Given the description of an element on the screen output the (x, y) to click on. 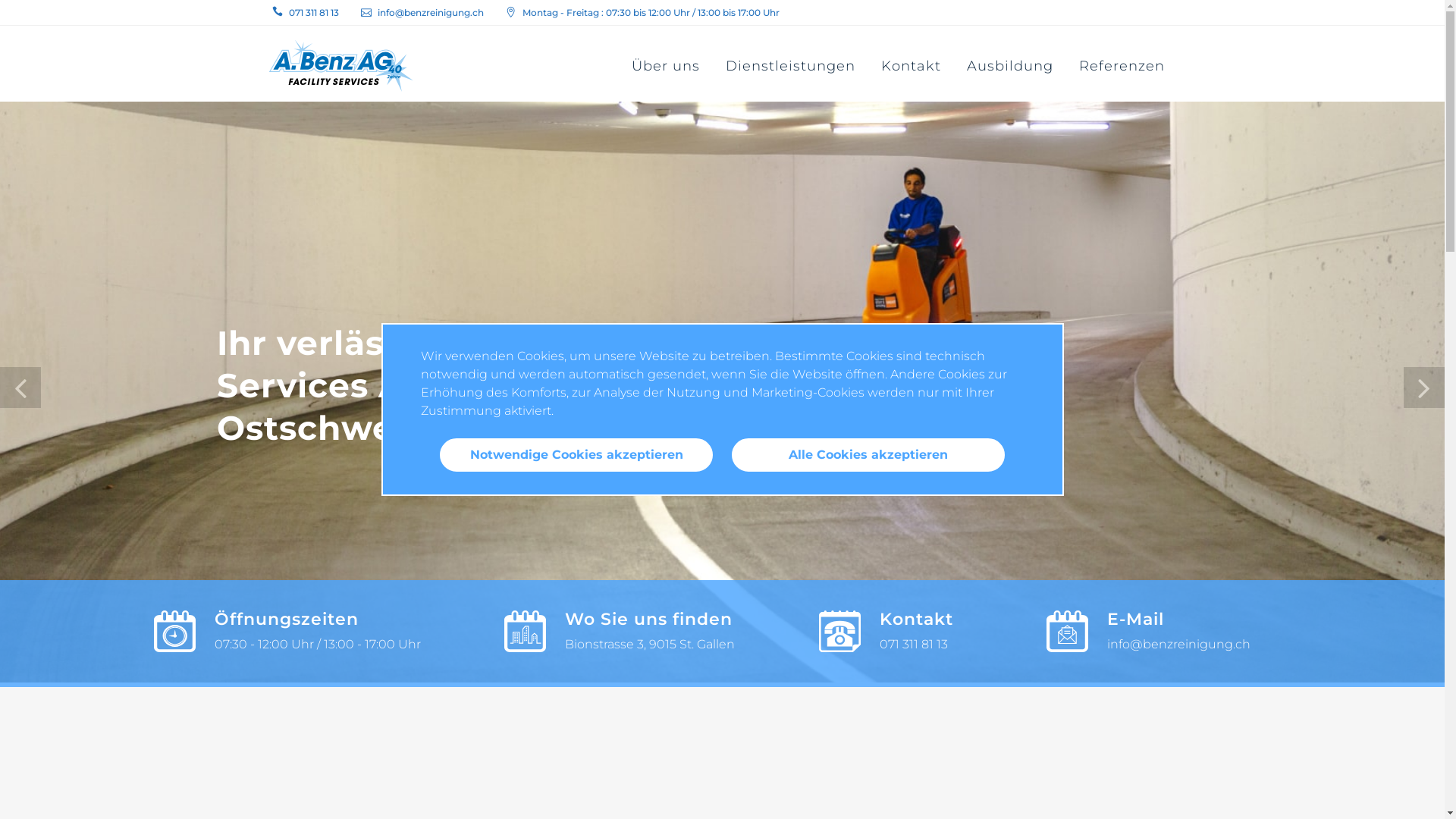
Dienstleistungen Element type: text (790, 65)
071 311 81 13 Element type: text (913, 644)
Ausbildung Element type: text (1009, 65)
info@benzreinigung.ch Element type: text (430, 12)
Kontakt Element type: text (910, 65)
info@benzreinigung.ch Element type: text (1178, 644)
071 311 81 13 Element type: text (313, 12)
Alle Cookies akzeptieren Element type: text (867, 454)
Referenzen Element type: text (1121, 65)
Notwendige Cookies akzeptieren Element type: text (575, 454)
